Given the description of an element on the screen output the (x, y) to click on. 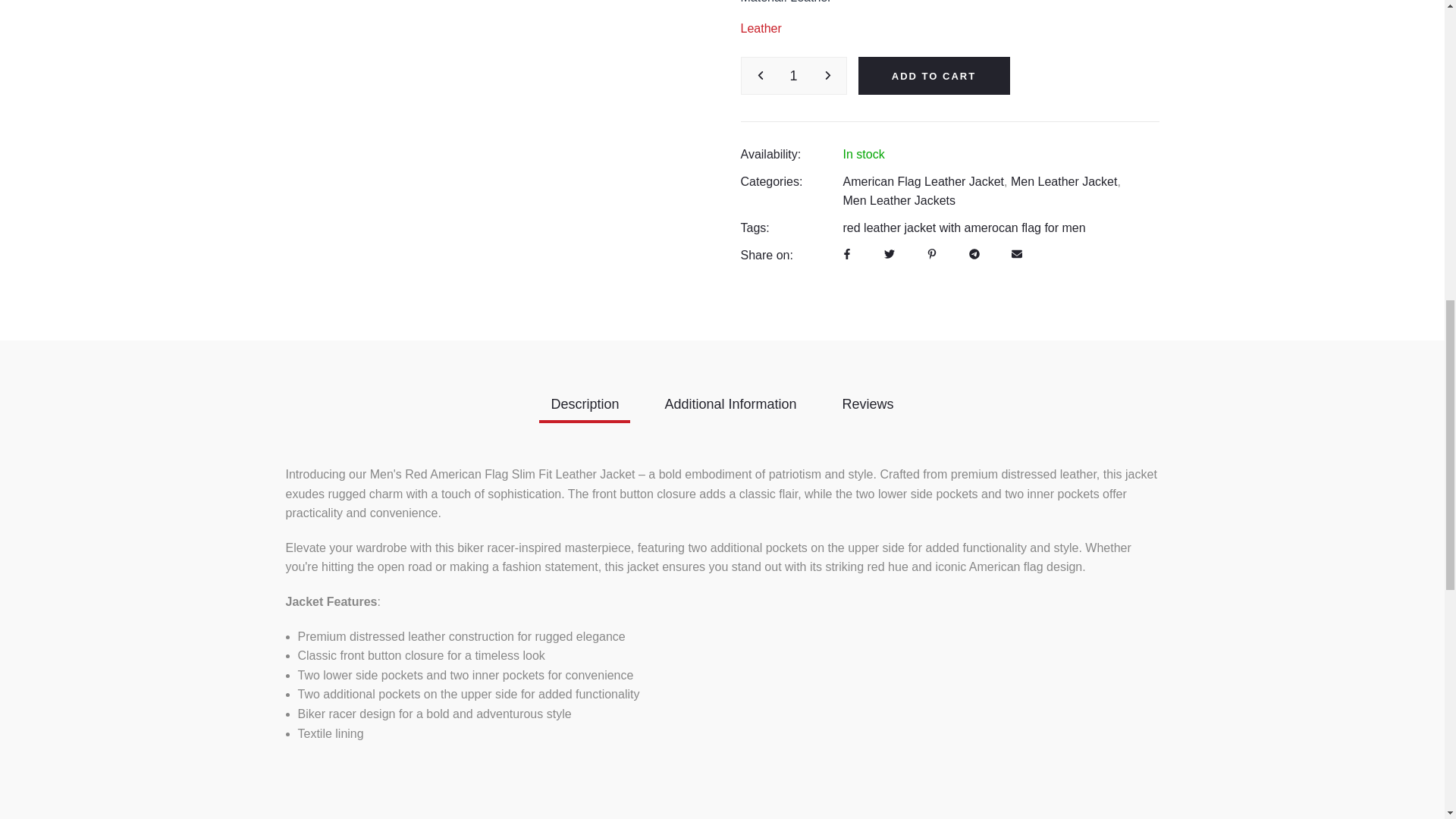
1 (793, 56)
Share on Facebook (845, 236)
Share on Telegram (973, 236)
Share on Pinterest (930, 236)
Share on Email (1016, 236)
Share on Twitter (888, 236)
